Given the description of an element on the screen output the (x, y) to click on. 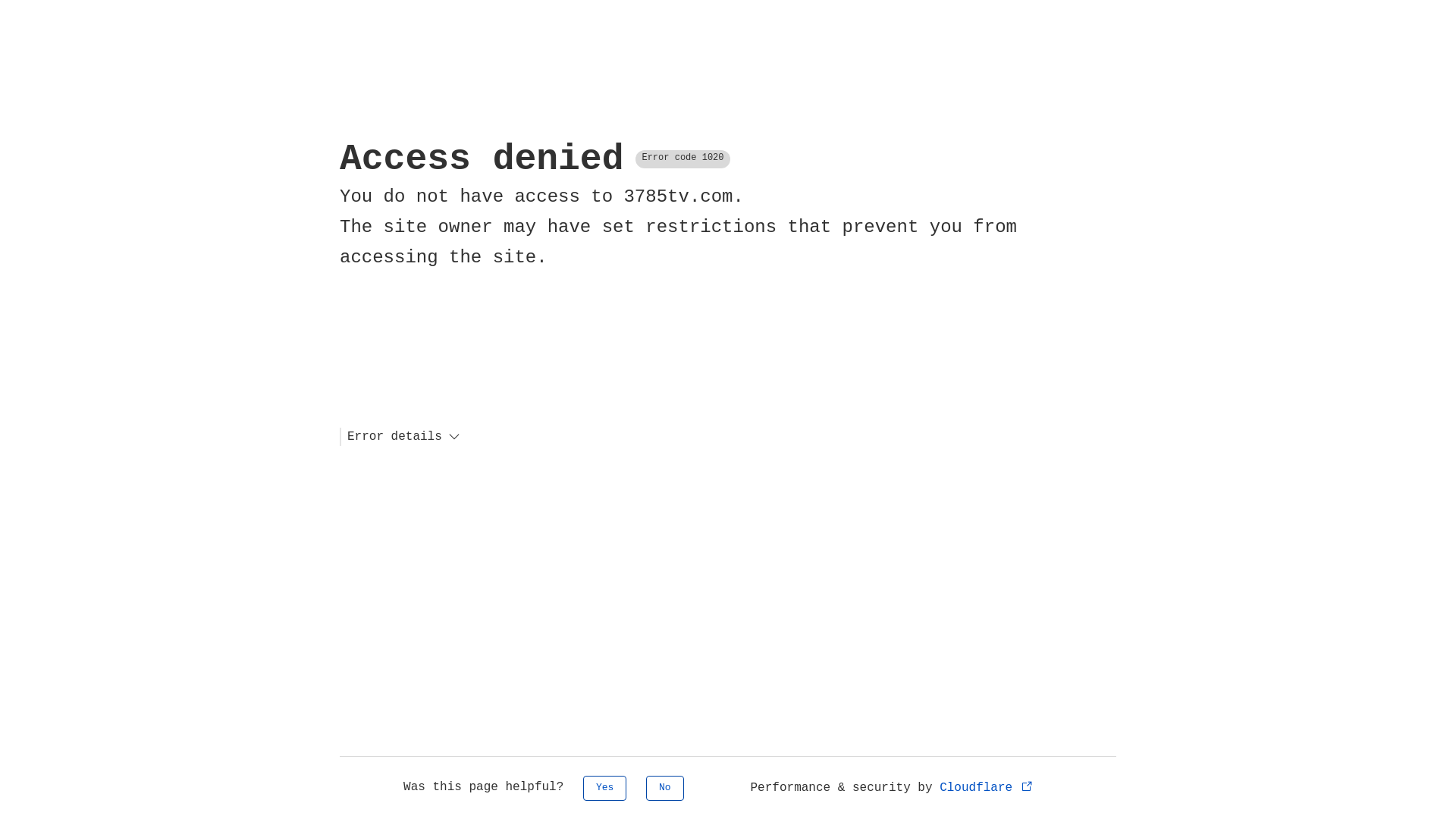
No Element type: text (665, 787)
Opens in new tab Element type: hover (1027, 785)
Yes Element type: text (604, 787)
Cloudflare Element type: text (986, 787)
